Given the description of an element on the screen output the (x, y) to click on. 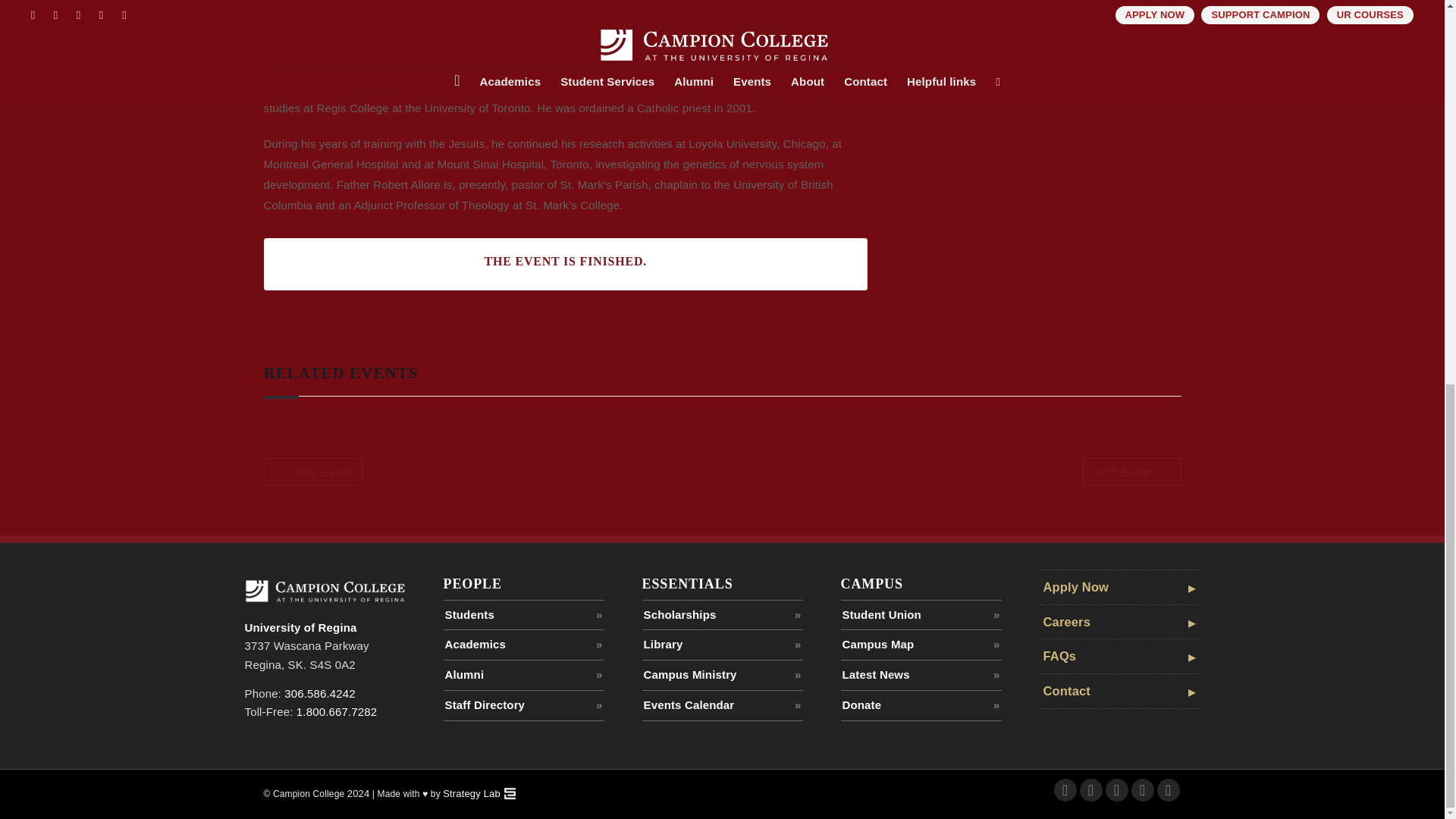
Facebook (1065, 789)
